Given the description of an element on the screen output the (x, y) to click on. 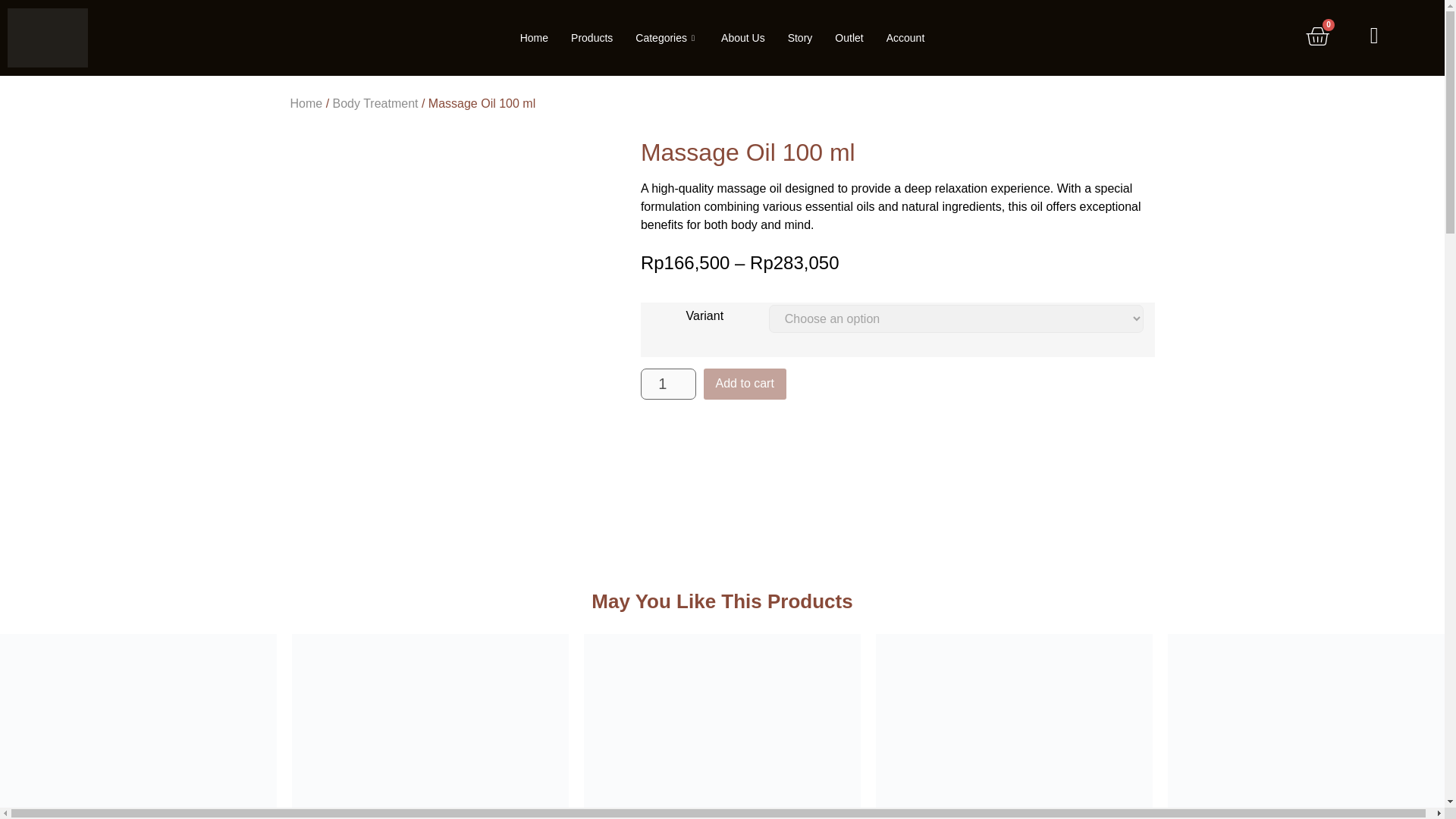
1 (667, 383)
Account (905, 37)
Body Treatment (376, 103)
Products (591, 37)
0 (1317, 38)
Categories (667, 37)
About Us (743, 37)
Home (305, 103)
Add to cart (744, 383)
